Given the description of an element on the screen output the (x, y) to click on. 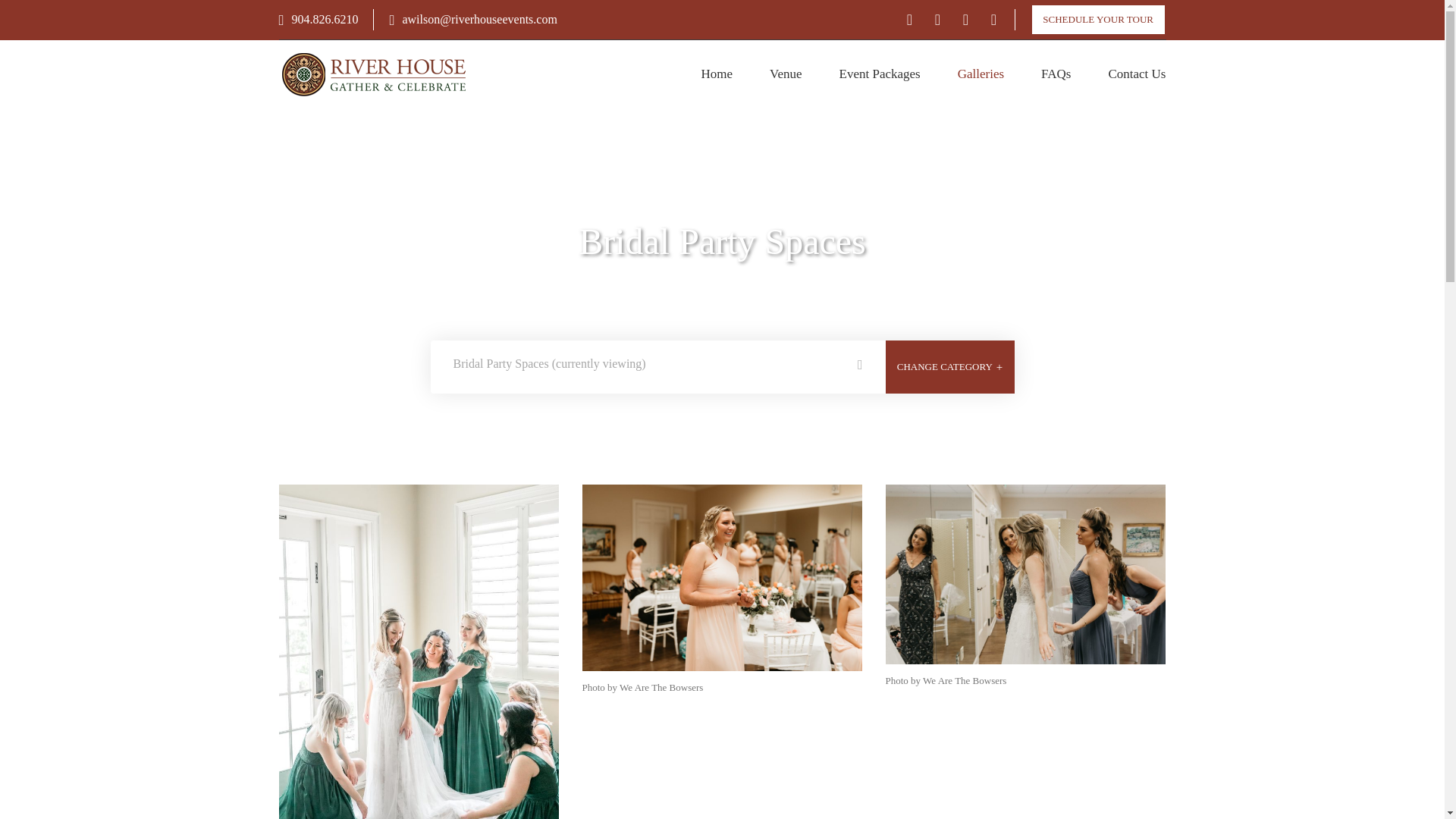
FAQs (1055, 74)
SCHEDULE YOUR TOUR (1098, 20)
Venue (786, 74)
Home (717, 74)
Contact Us (1137, 74)
Photo by We Are The Bowsers (722, 577)
Event Packages (880, 74)
Photo by We Are The Bowsers (1025, 574)
Galleries (981, 74)
904.826.6210 (318, 19)
